Given the description of an element on the screen output the (x, y) to click on. 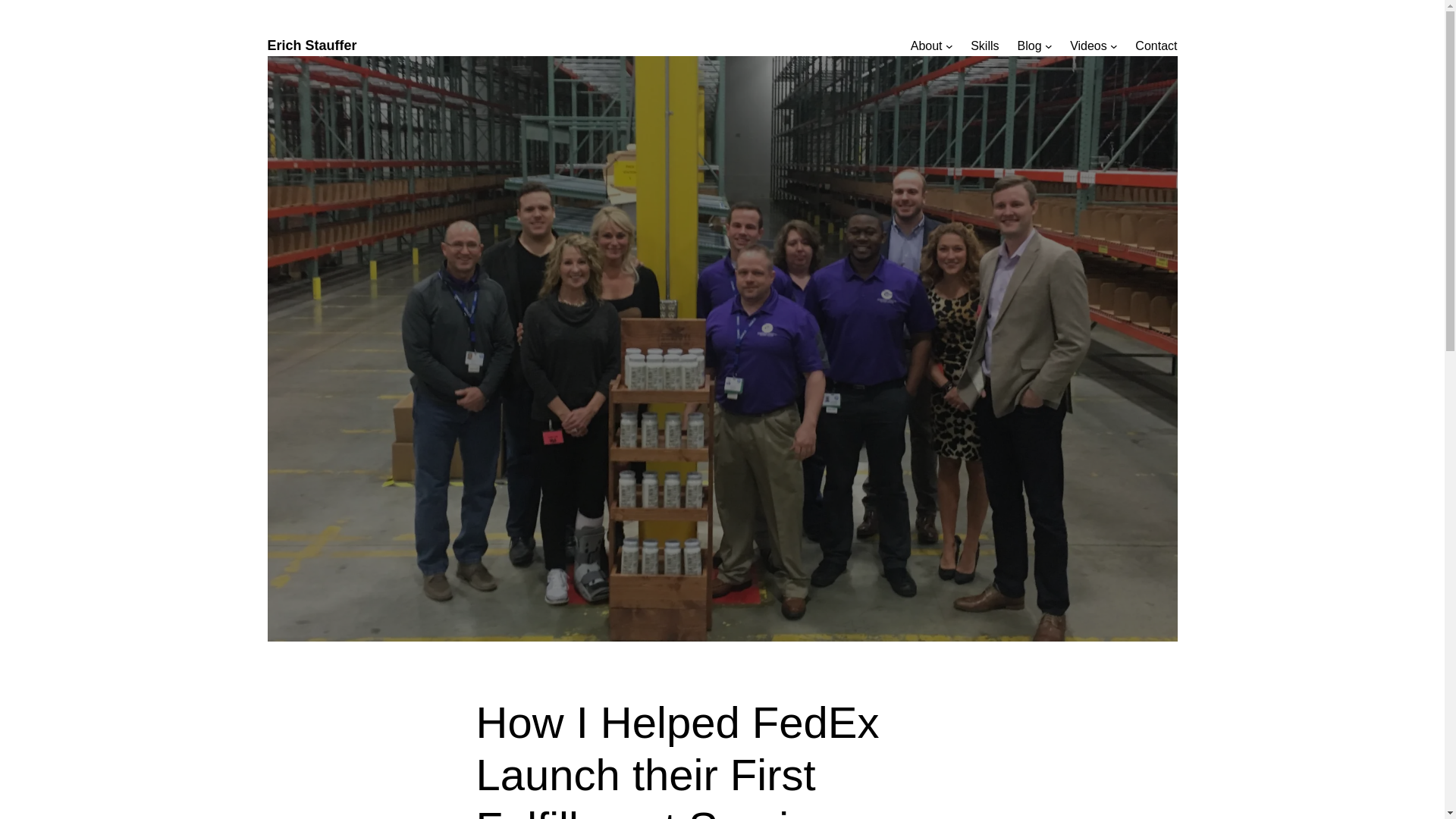
Contact (1155, 46)
About (926, 46)
Skills (984, 46)
Videos (1088, 46)
Erich Stauffer (311, 45)
Blog (1029, 46)
